Given the description of an element on the screen output the (x, y) to click on. 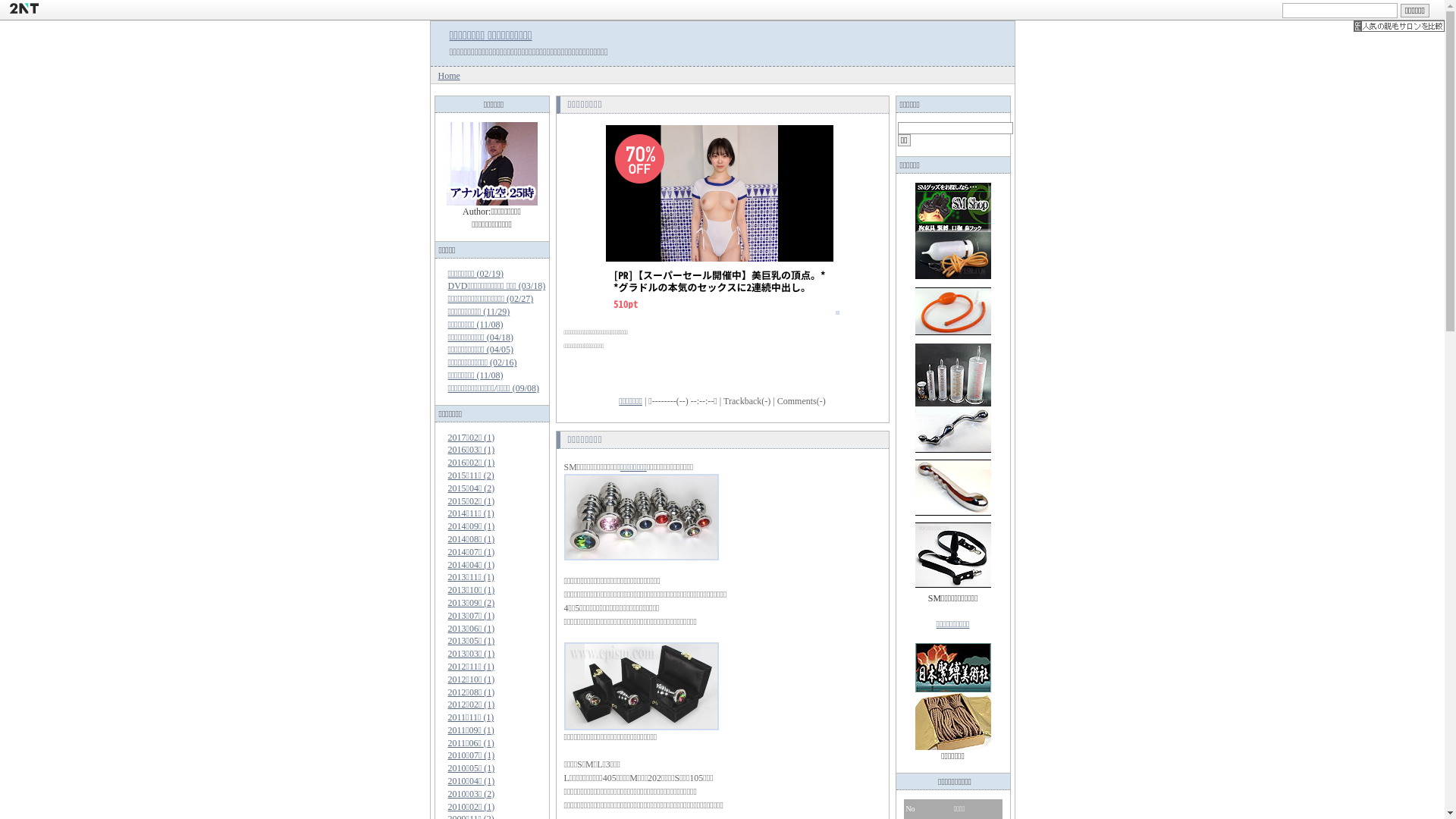
Home Element type: text (449, 75)
